Given the description of an element on the screen output the (x, y) to click on. 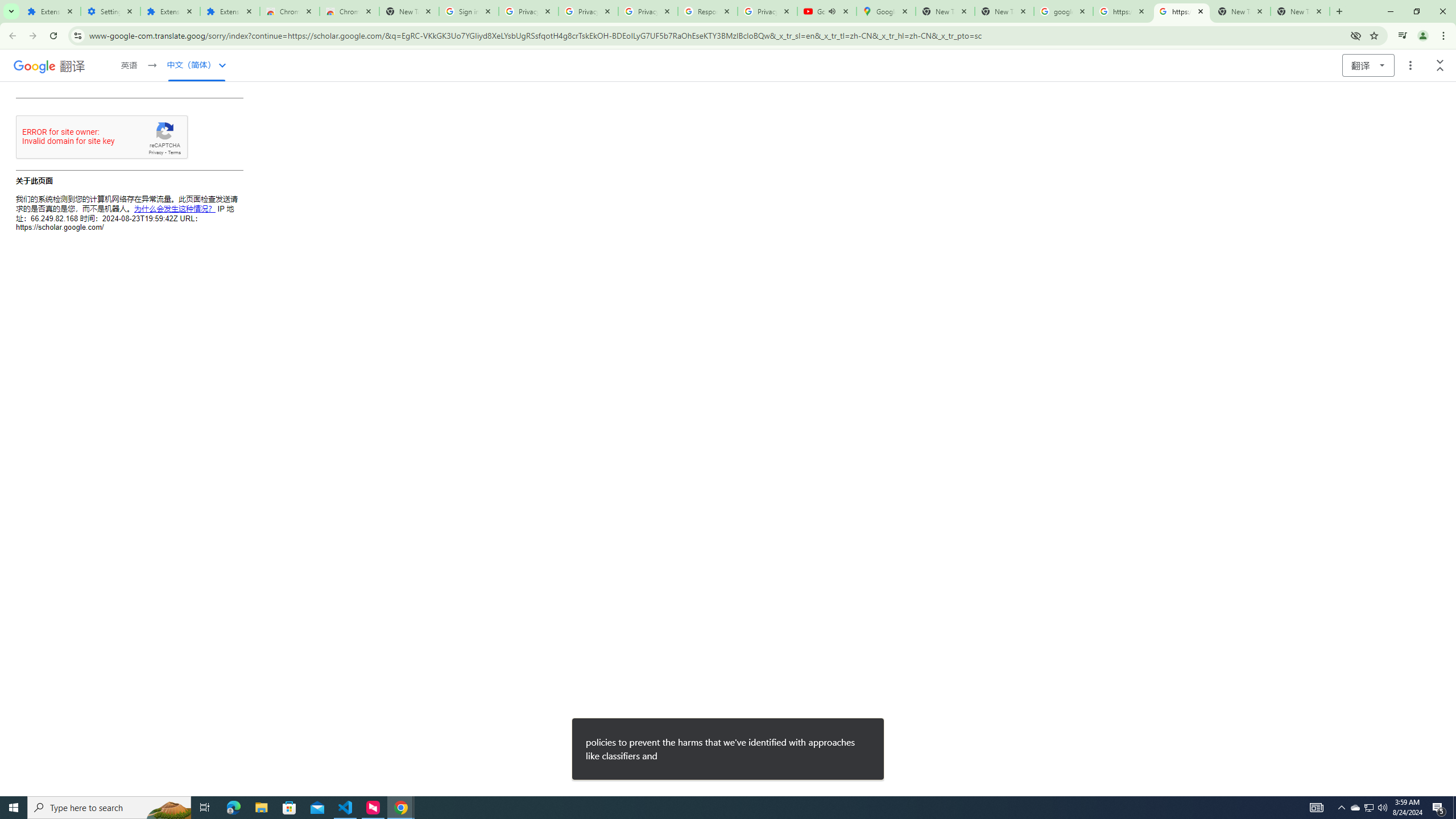
Chrome Web Store (289, 11)
https://scholar.google.com/ (1182, 11)
